Given the description of an element on the screen output the (x, y) to click on. 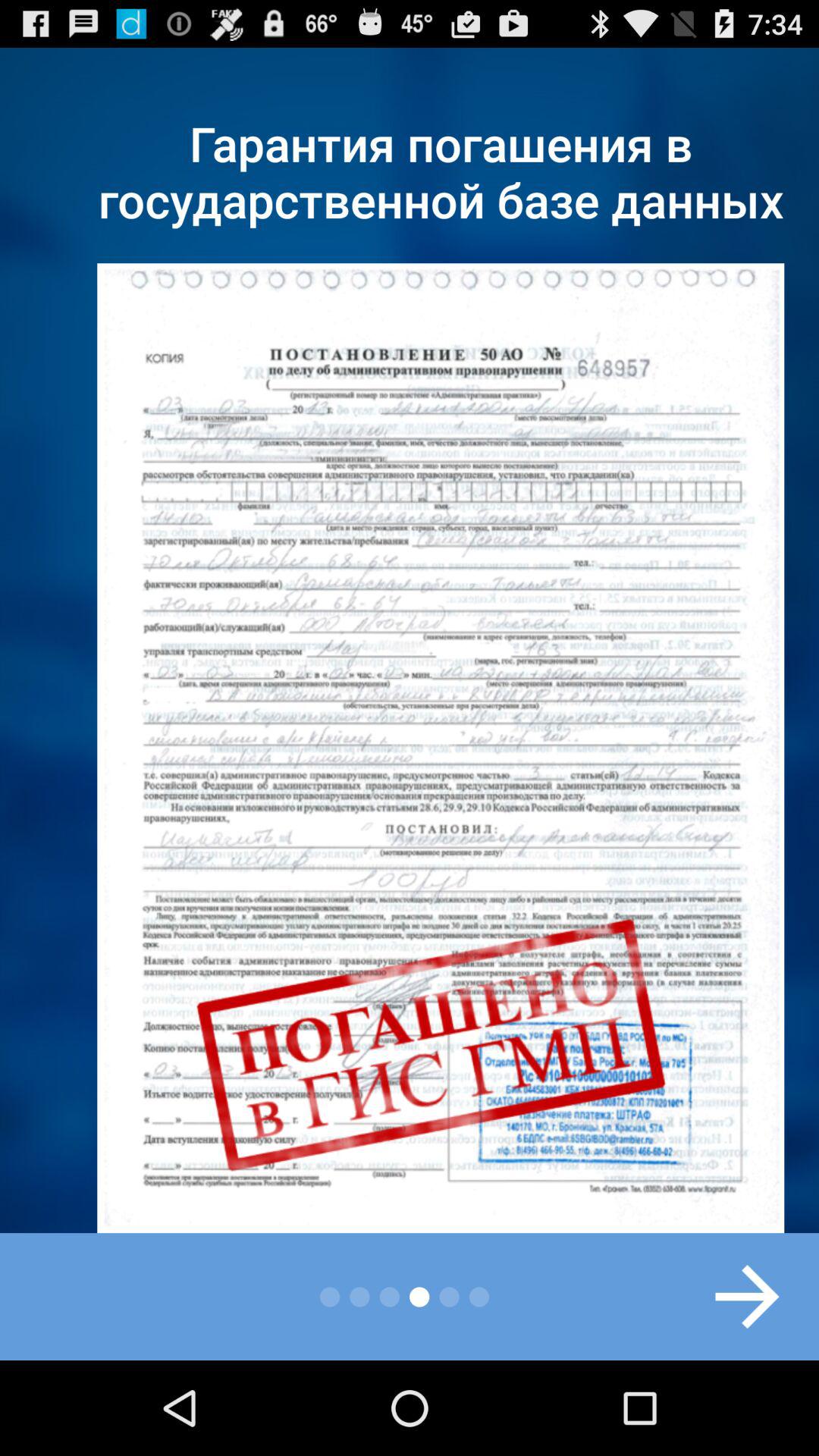
tap the item at the bottom right corner (731, 1296)
